Given the description of an element on the screen output the (x, y) to click on. 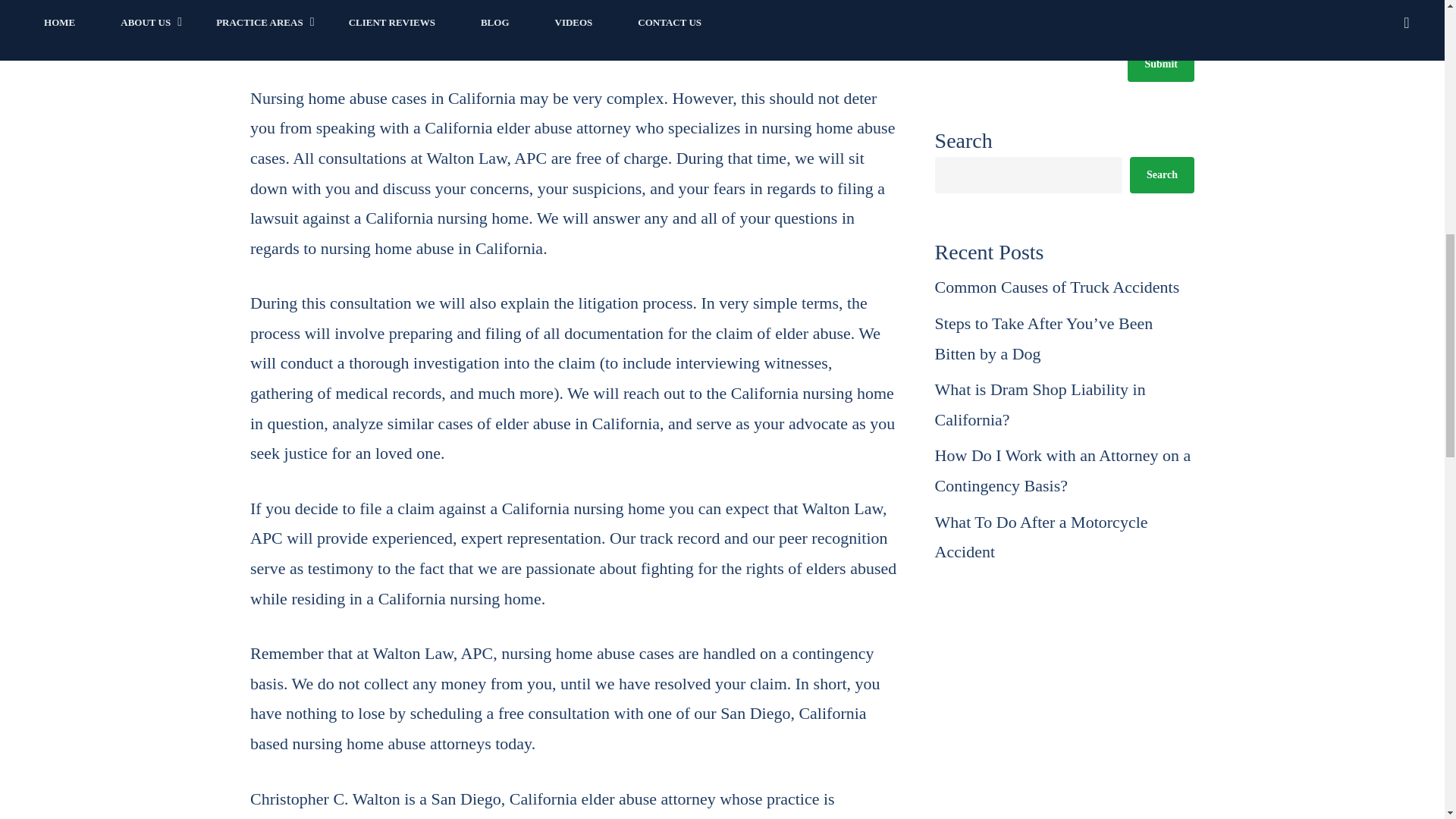
1 (939, 6)
Submit (1159, 63)
Common Causes of Truck Accidents (1063, 286)
Submit (1159, 63)
Search (1161, 175)
